Given the description of an element on the screen output the (x, y) to click on. 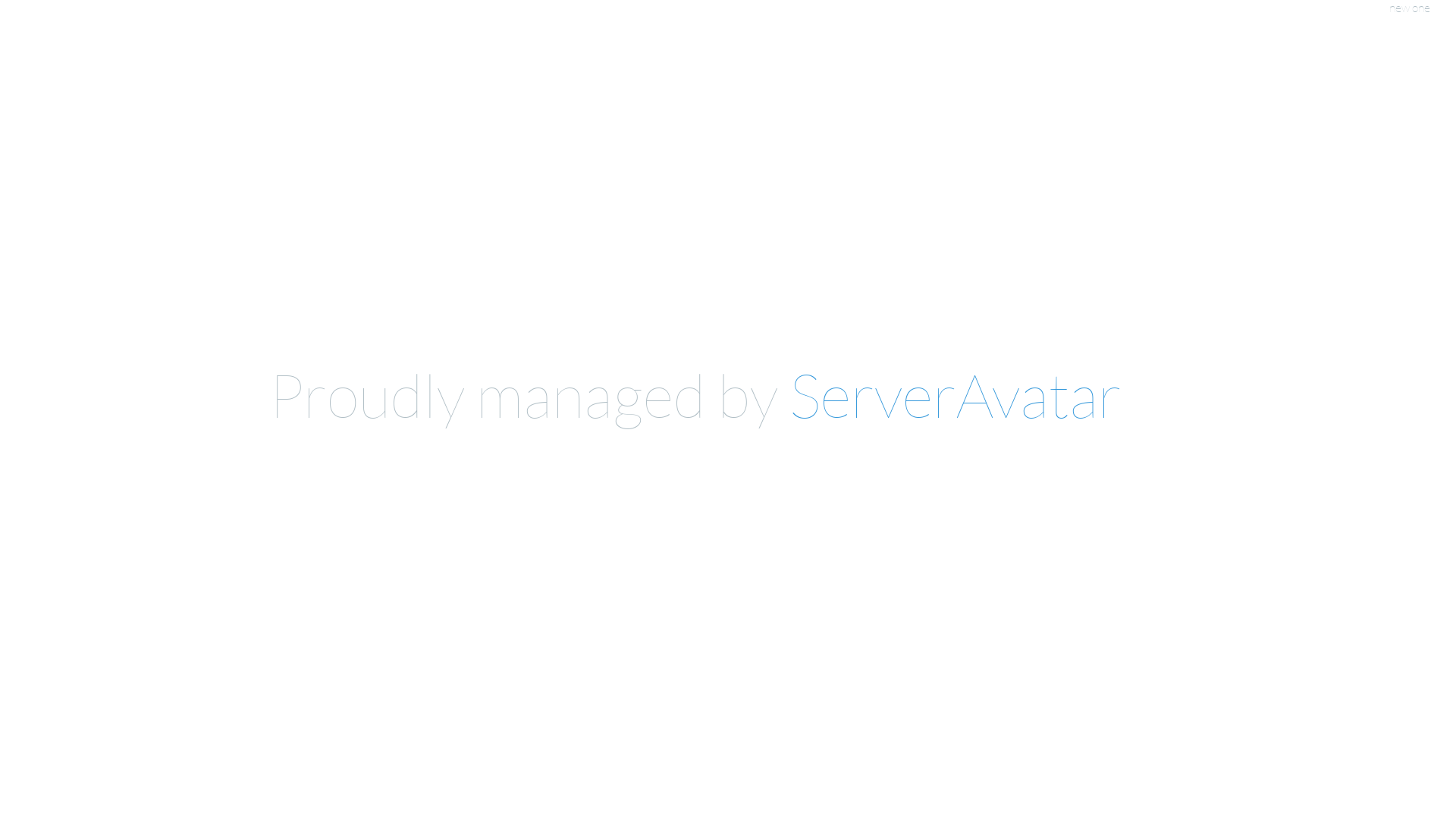
ServerAvatar Element type: text (955, 394)
